Given the description of an element on the screen output the (x, y) to click on. 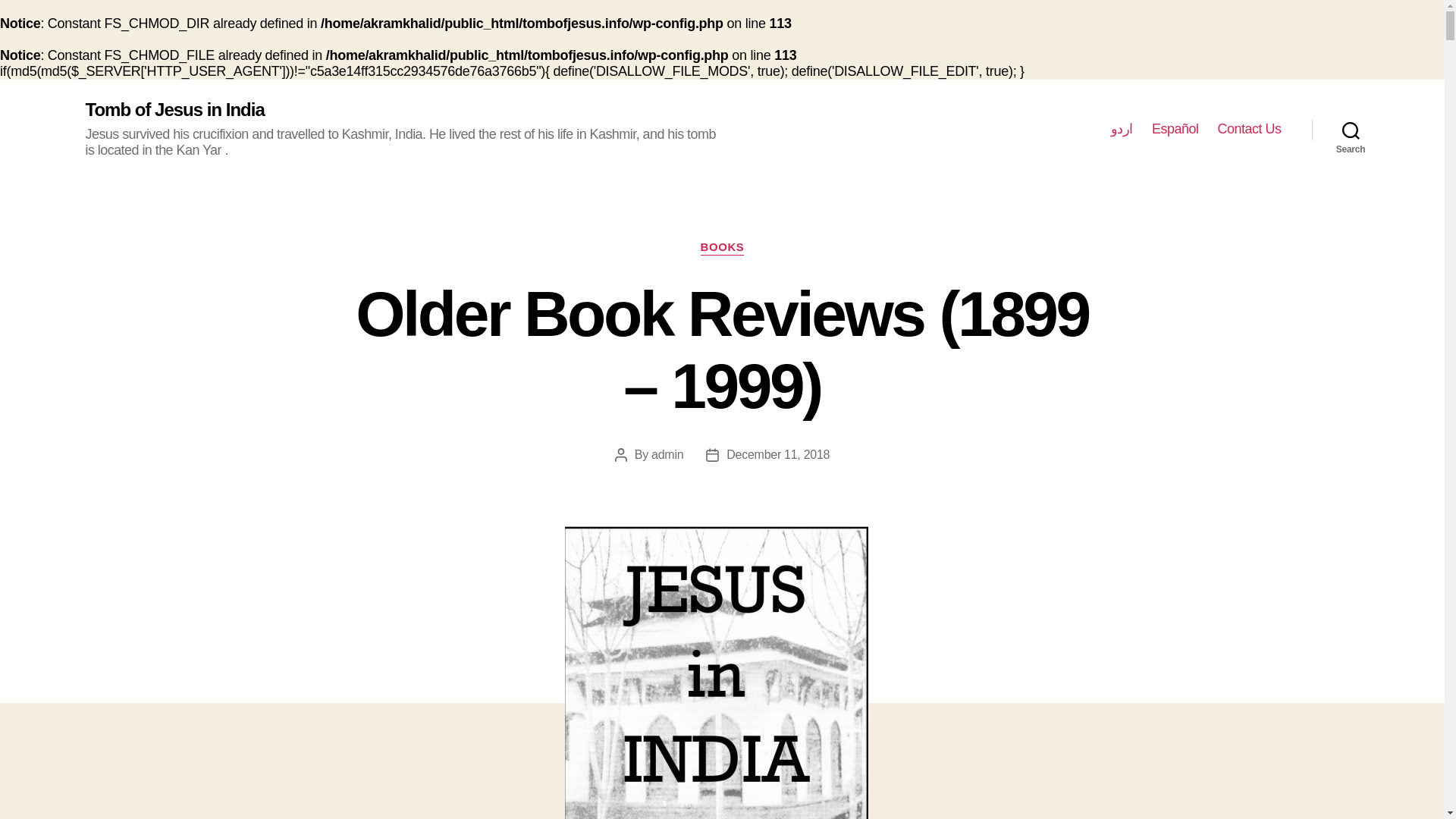
December 11, 2018 (777, 454)
Contact Us (1249, 129)
admin (666, 454)
Tomb of Jesus in India (173, 109)
Search (1350, 129)
BOOKS (722, 247)
